Given the description of an element on the screen output the (x, y) to click on. 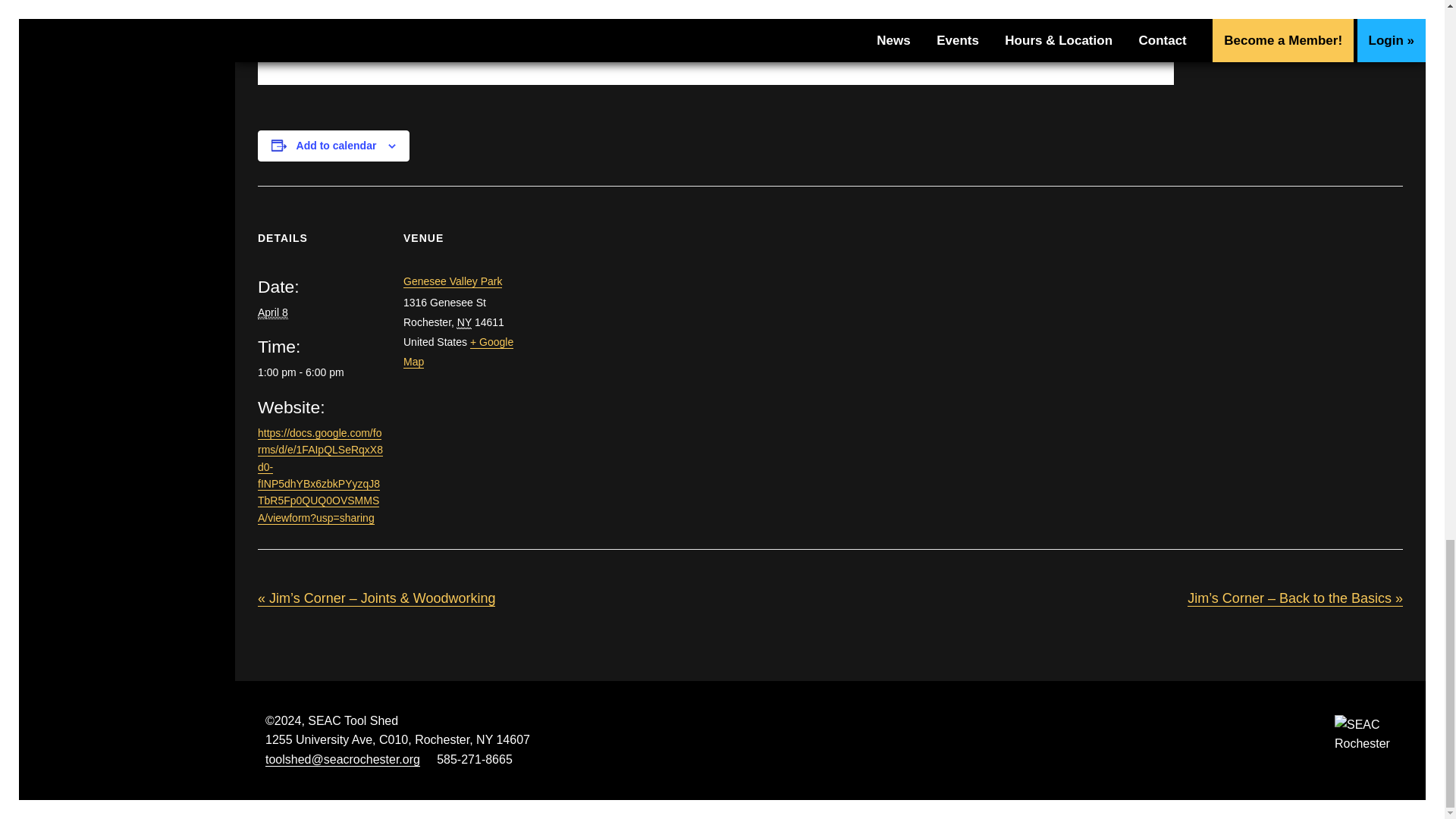
Add to calendar (337, 145)
New York (464, 322)
2024-04-08 (272, 312)
Genesee Valley Park (452, 281)
2024-04-08 (321, 371)
Click to view a Google Map (458, 351)
